Given the description of an element on the screen output the (x, y) to click on. 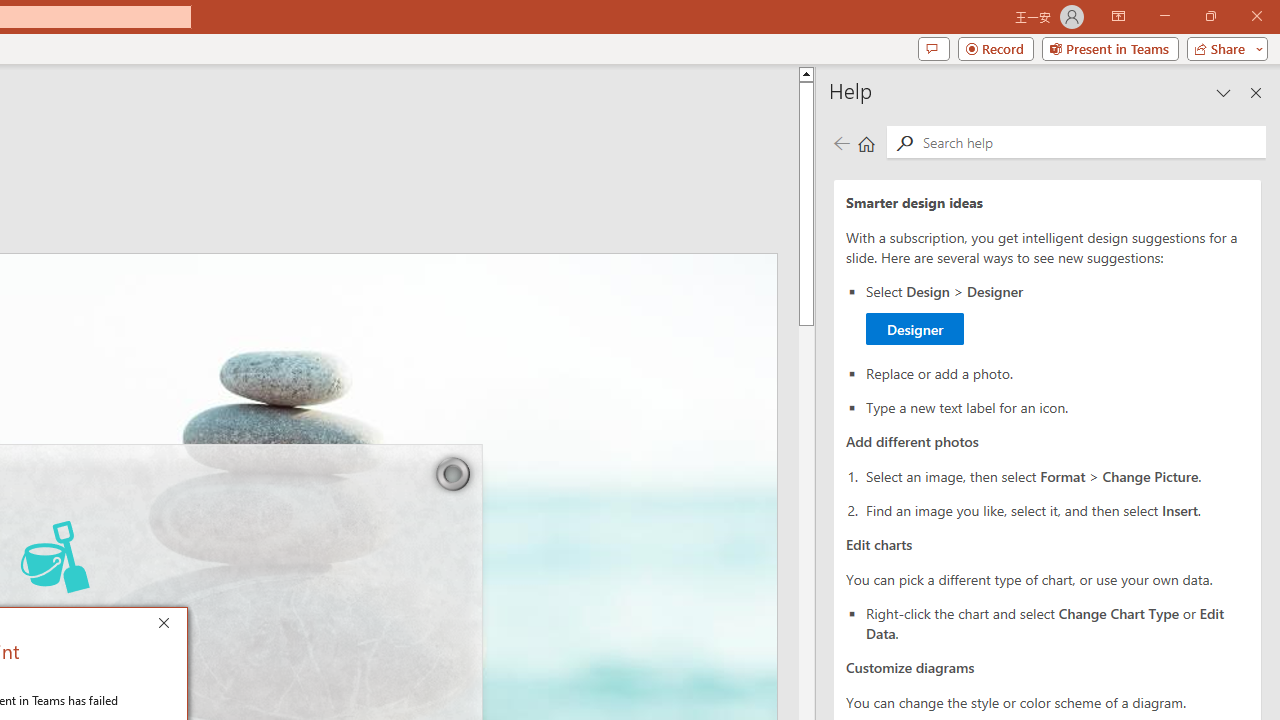
Select an image, then select Format > Change Picture. (1057, 314)
Type a new text label for an icon. (1057, 475)
